Given the description of an element on the screen output the (x, y) to click on. 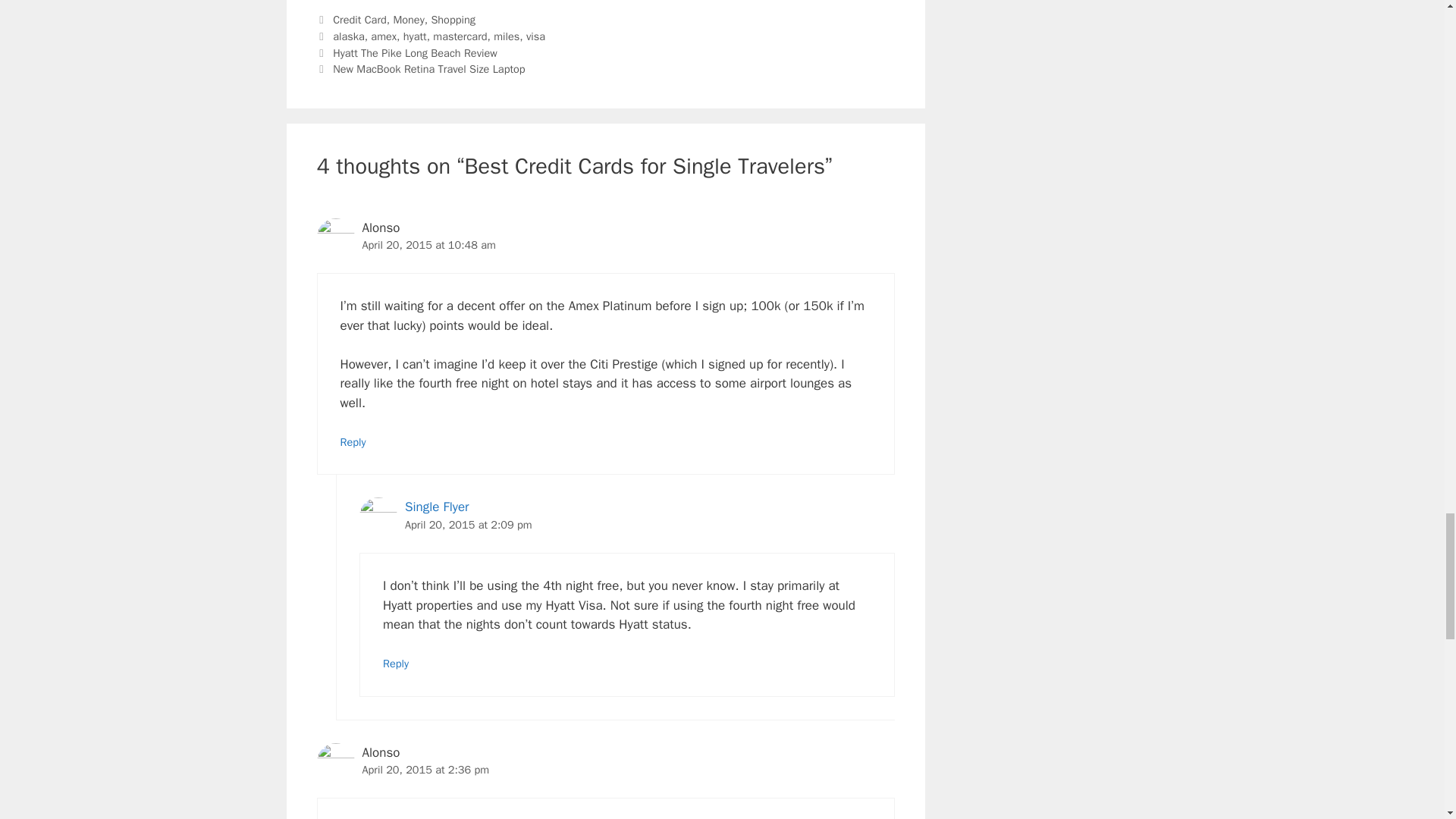
mastercard (459, 36)
Credit Card (360, 19)
hyatt (414, 36)
visa (534, 36)
amex (383, 36)
Shopping (453, 19)
Money (408, 19)
alaska (349, 36)
miles (506, 36)
